Given the description of an element on the screen output the (x, y) to click on. 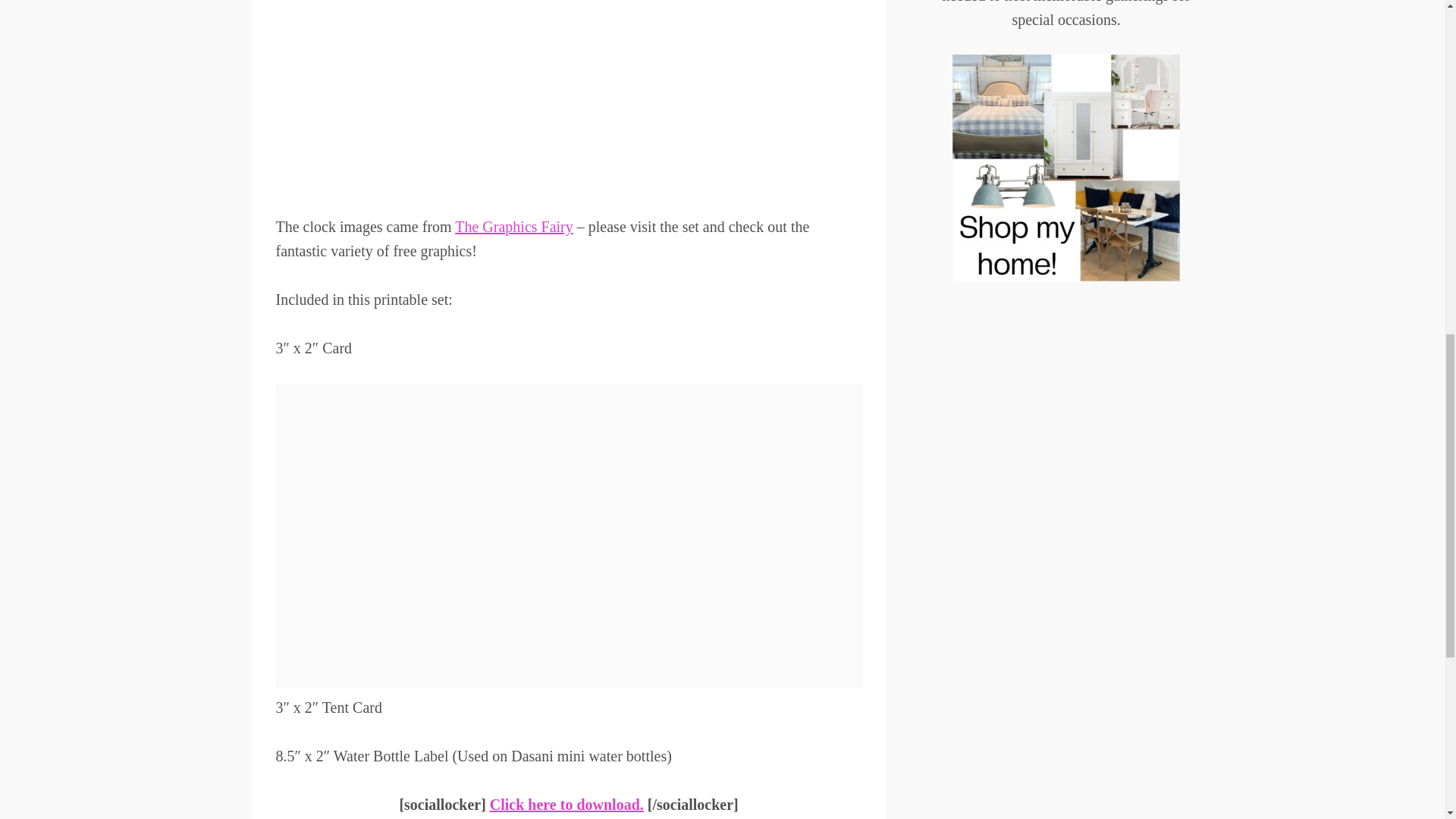
Click here to download. (566, 804)
The Graphics Fairy (513, 226)
The Graphics Fairy (513, 226)
